Given the description of an element on the screen output the (x, y) to click on. 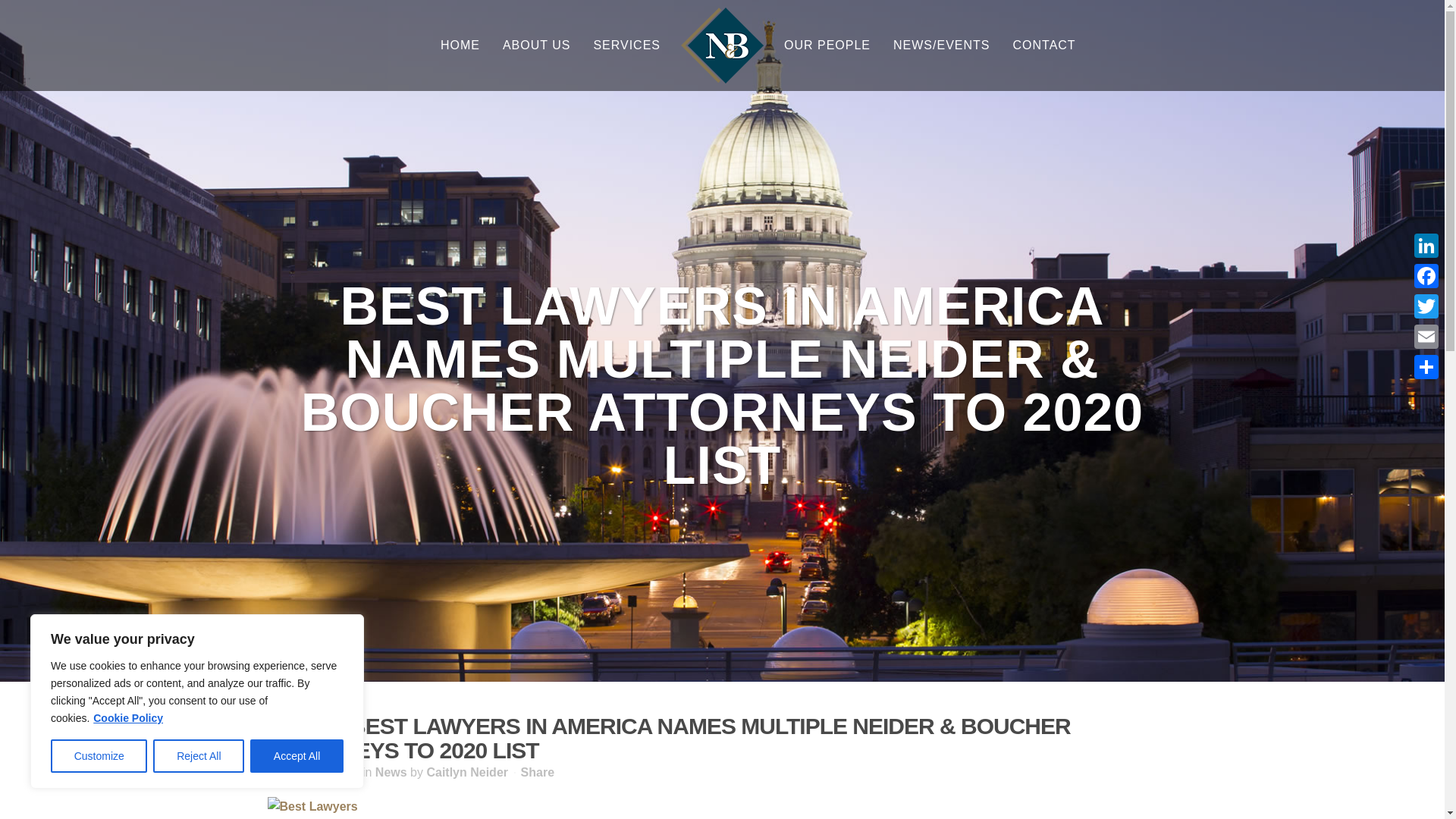
Cookie Policy (128, 717)
Email (1425, 336)
SERVICES (625, 45)
ABOUT US (537, 45)
LinkedIn (1425, 245)
Customize (98, 756)
Reject All (198, 756)
CONTACT (1043, 45)
OUR PEOPLE (827, 45)
Facebook (1425, 276)
Accept All (296, 756)
Twitter (1425, 306)
